Given the description of an element on the screen output the (x, y) to click on. 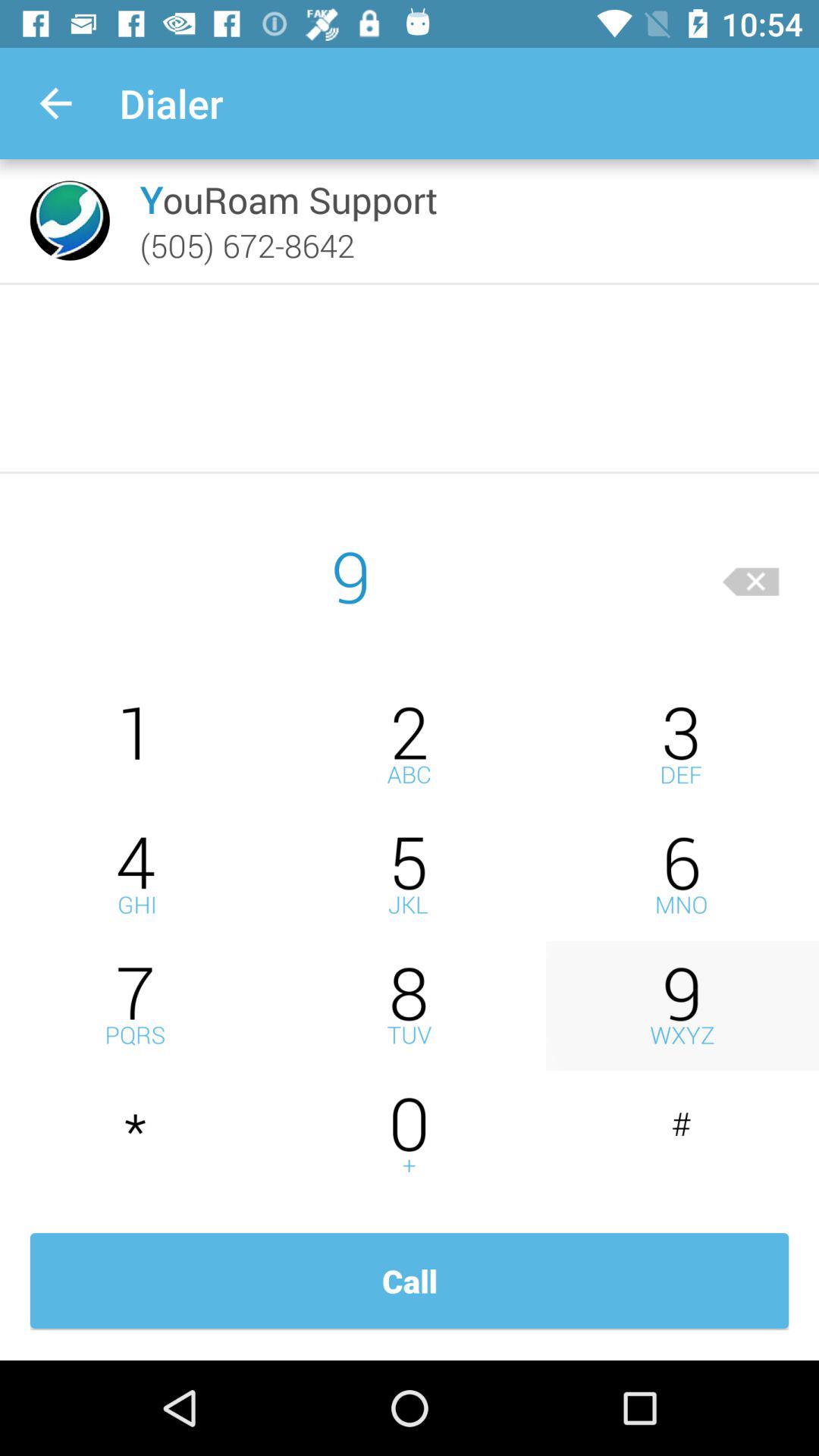
a digit number (682, 1005)
